Given the description of an element on the screen output the (x, y) to click on. 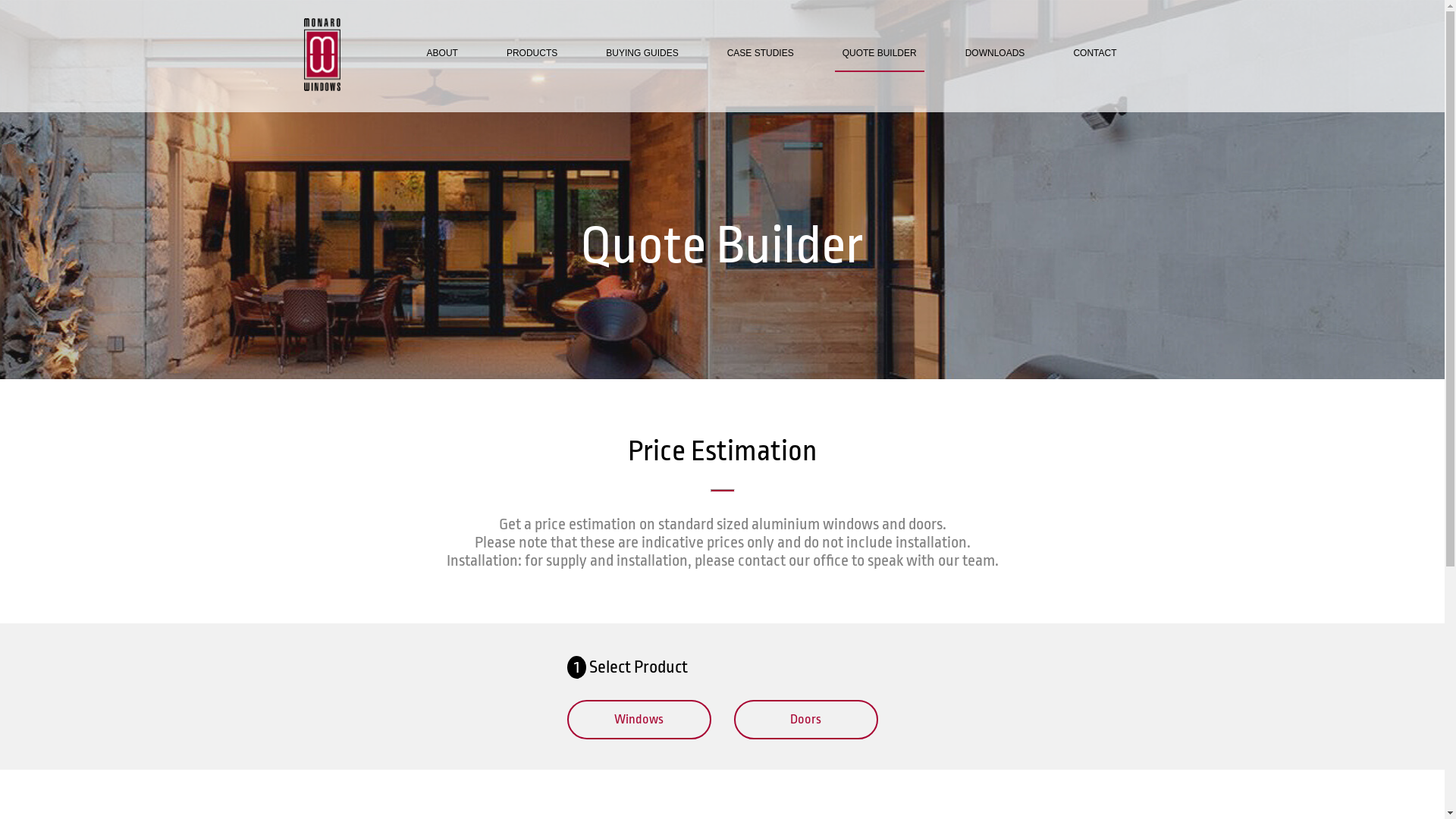
CONTACT Element type: text (1094, 53)
Doors Element type: text (806, 719)
CASE STUDIES Element type: text (760, 53)
BUYING GUIDES Element type: text (641, 53)
ABOUT Element type: text (442, 53)
Windows Element type: text (639, 719)
QUOTE BUILDER Element type: text (879, 53)
DOWNLOADS Element type: text (994, 53)
PRODUCTS Element type: text (531, 53)
Monaro Windows Element type: hover (322, 54)
